Given the description of an element on the screen output the (x, y) to click on. 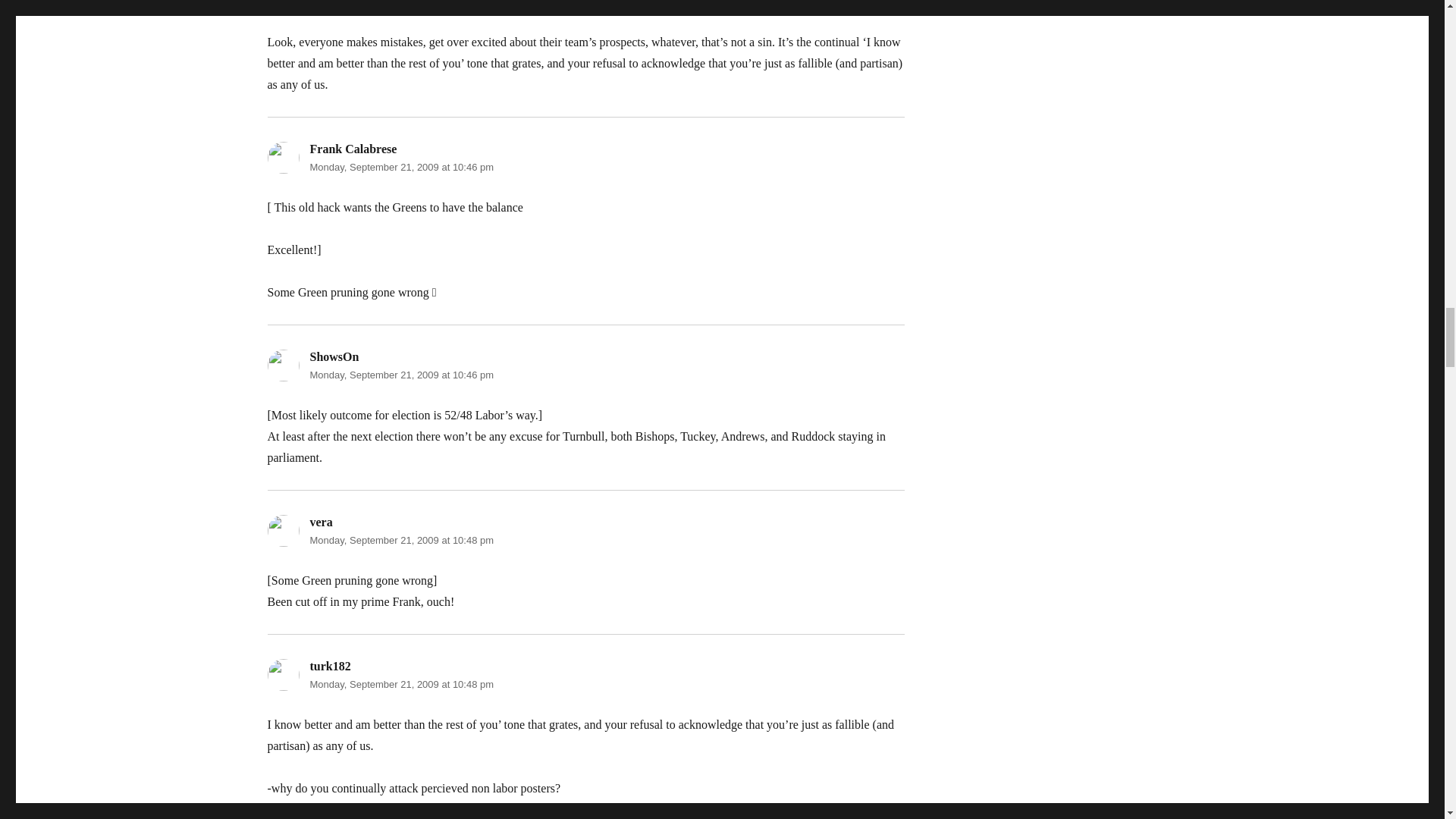
Monday, September 21, 2009 at 10:46 pm (400, 166)
